Given the description of an element on the screen output the (x, y) to click on. 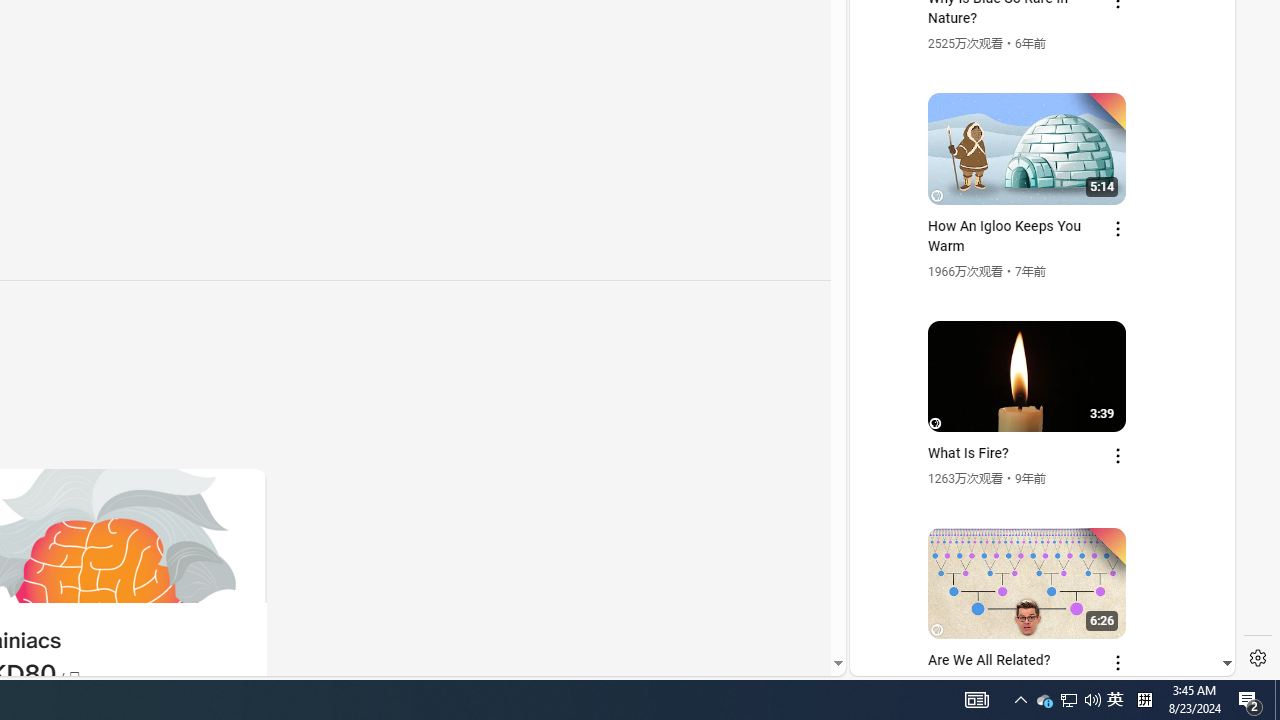
YouTube - YouTube (1034, 266)
Global web icon (888, 432)
you (1034, 609)
Click to scroll right (1196, 83)
YouTube (1034, 432)
Class: dict_pnIcon rms_img (1028, 660)
Actions for this site (1131, 443)
